Given the description of an element on the screen output the (x, y) to click on. 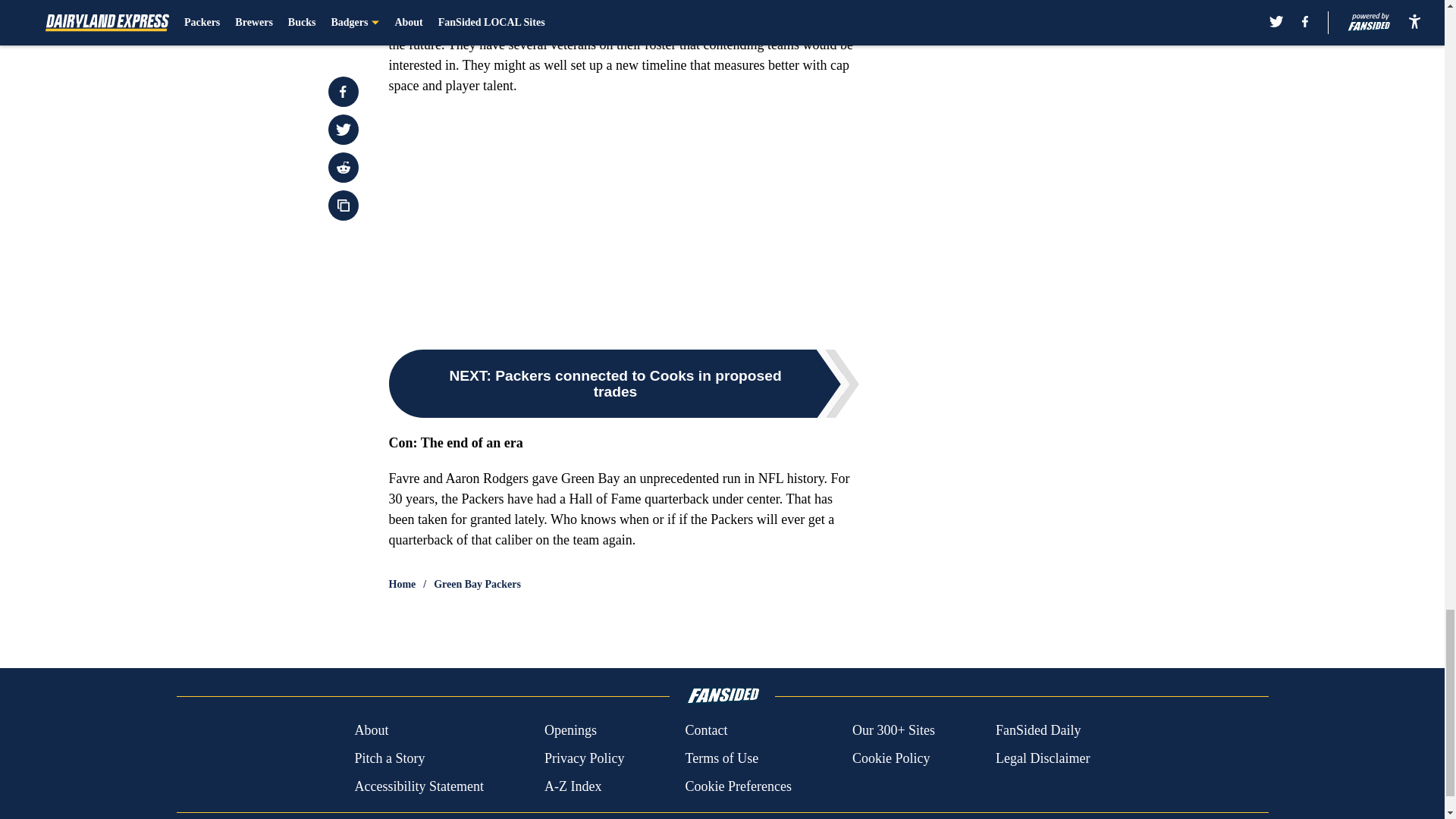
Cookie Policy (890, 758)
Pitch a Story (389, 758)
NEXT: Packers connected to Cooks in proposed trades (623, 383)
Home (401, 584)
Privacy Policy (584, 758)
Legal Disclaimer (1042, 758)
Accessibility Statement (418, 786)
Openings (570, 730)
Contact (705, 730)
Green Bay Packers (477, 584)
